Given the description of an element on the screen output the (x, y) to click on. 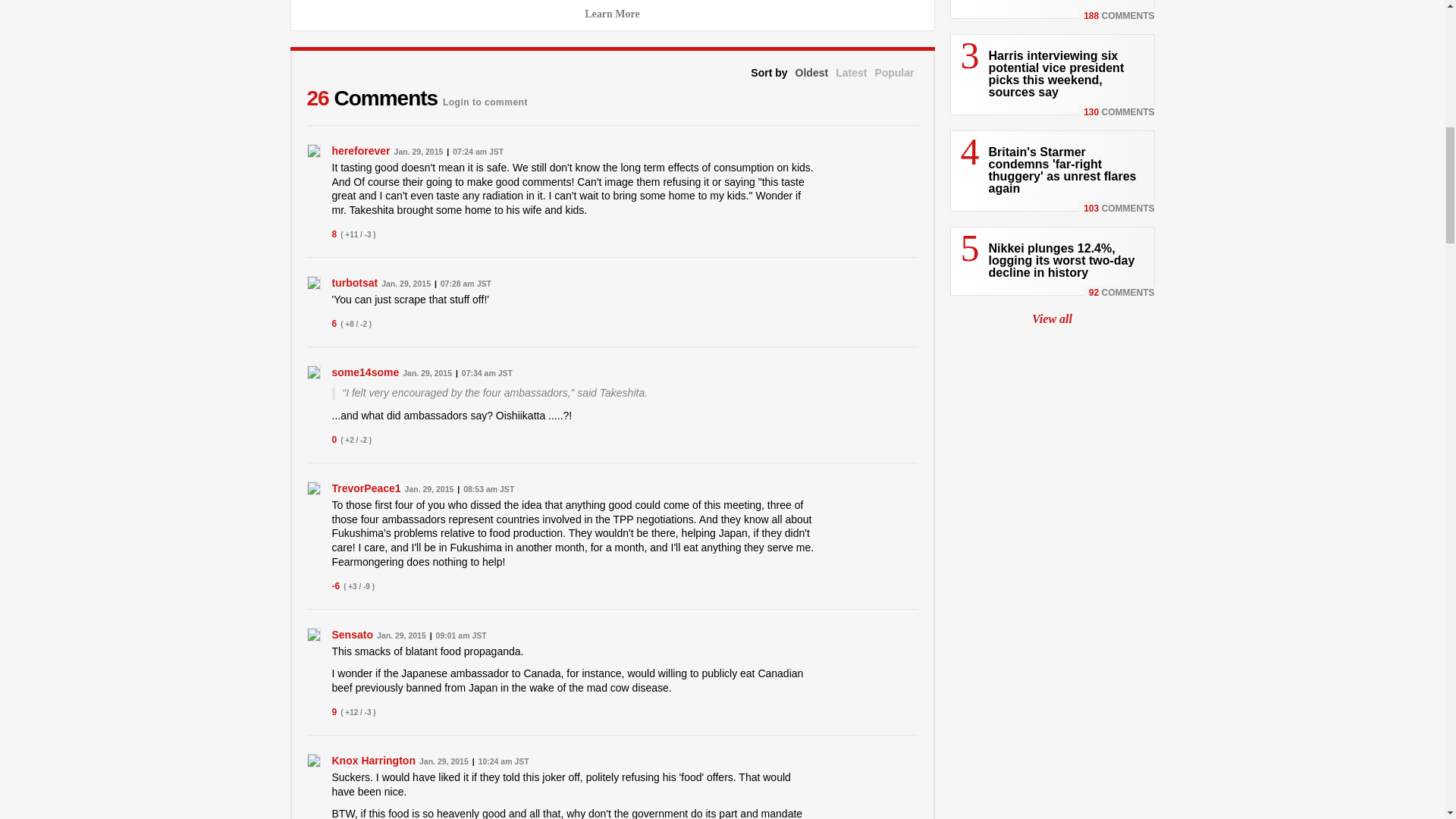
Login to comment (484, 97)
